Given the description of an element on the screen output the (x, y) to click on. 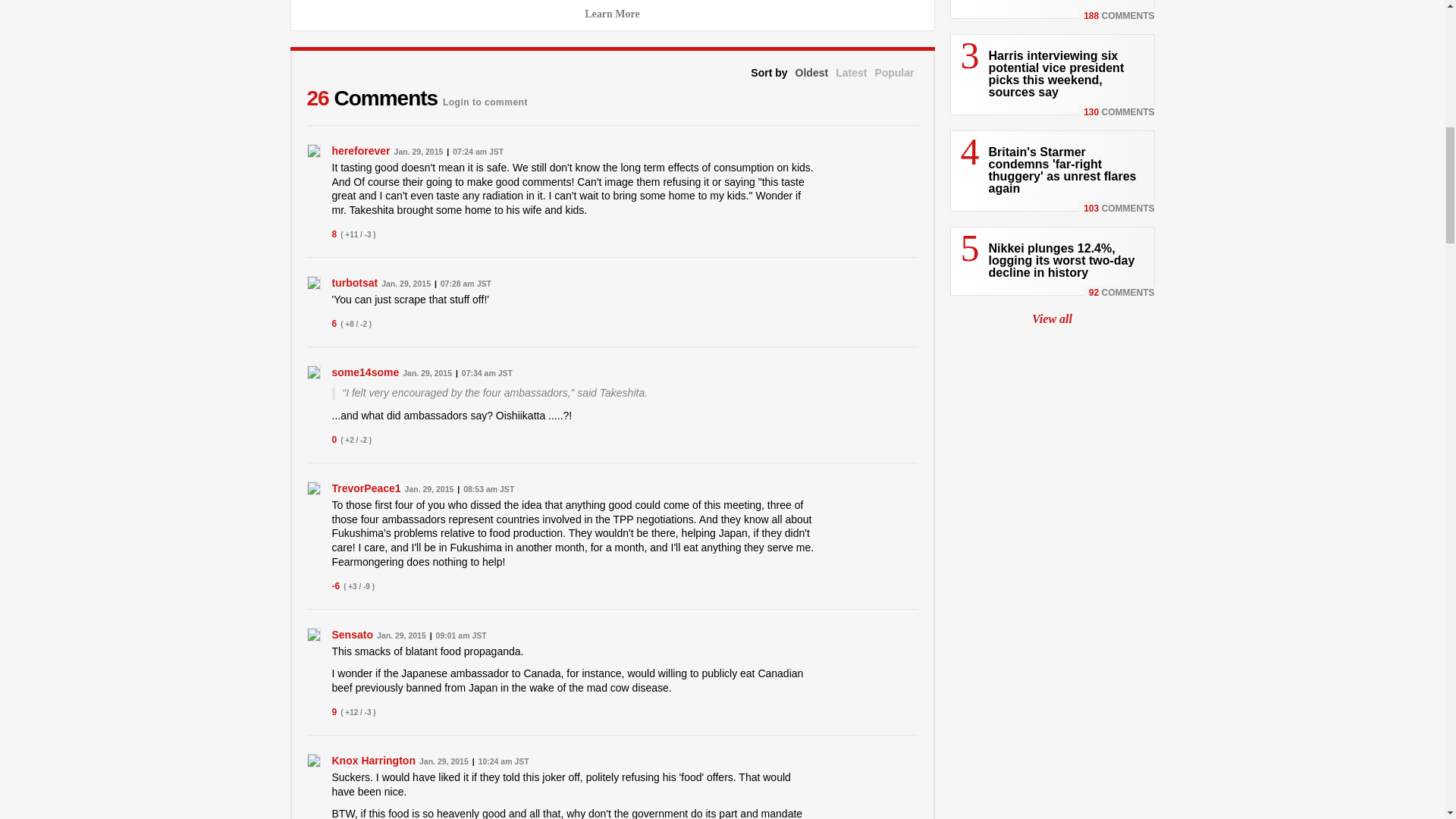
Login to comment (484, 97)
